Given the description of an element on the screen output the (x, y) to click on. 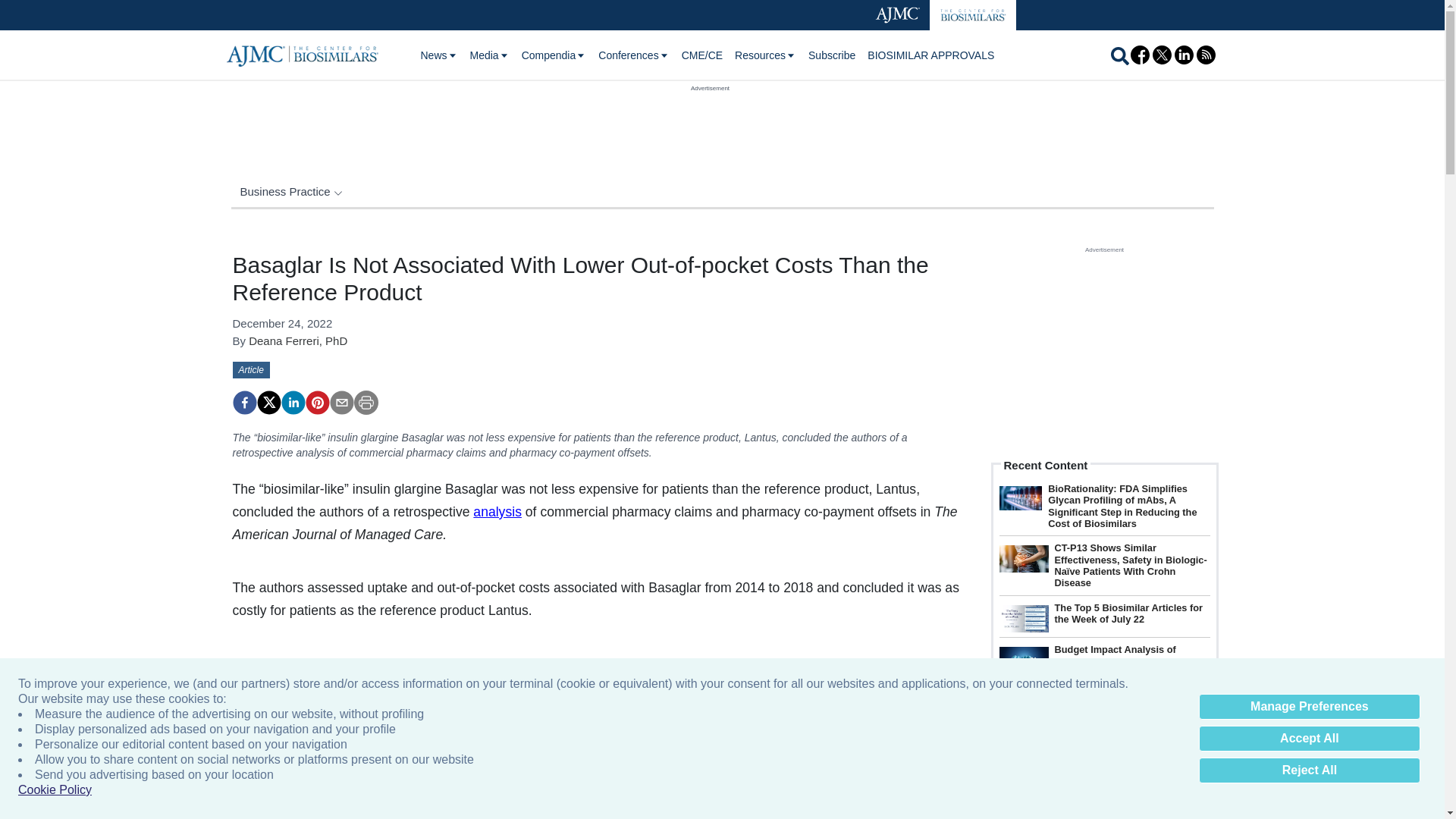
Cookie Policy (54, 789)
Manage Preferences (1309, 706)
Reject All (1309, 769)
3rd party ad content (709, 127)
Accept All (1309, 738)
